Given the description of an element on the screen output the (x, y) to click on. 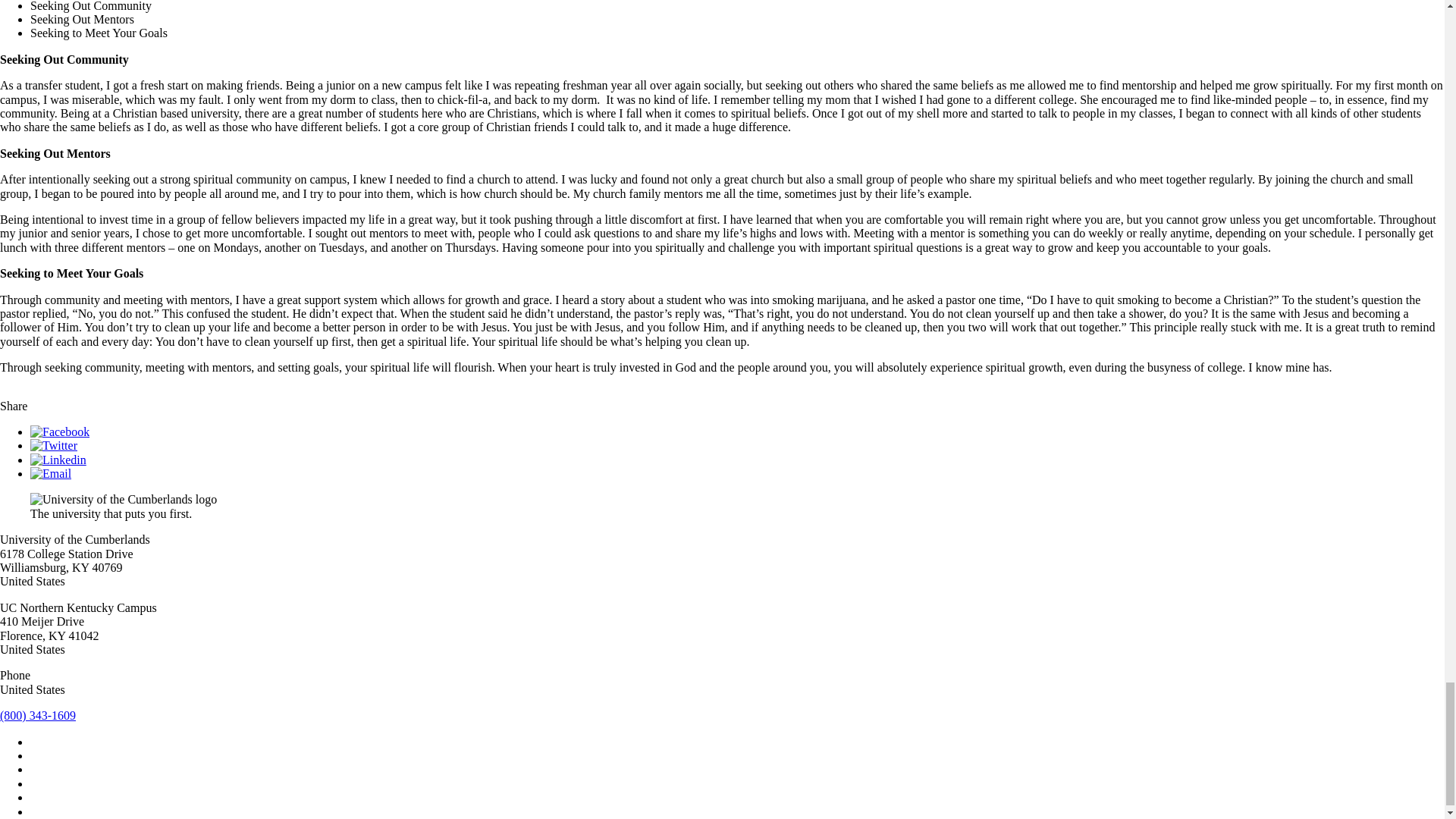
Email (50, 472)
Linkedin (57, 459)
Twitter (53, 445)
Facebook (59, 431)
